Given the description of an element on the screen output the (x, y) to click on. 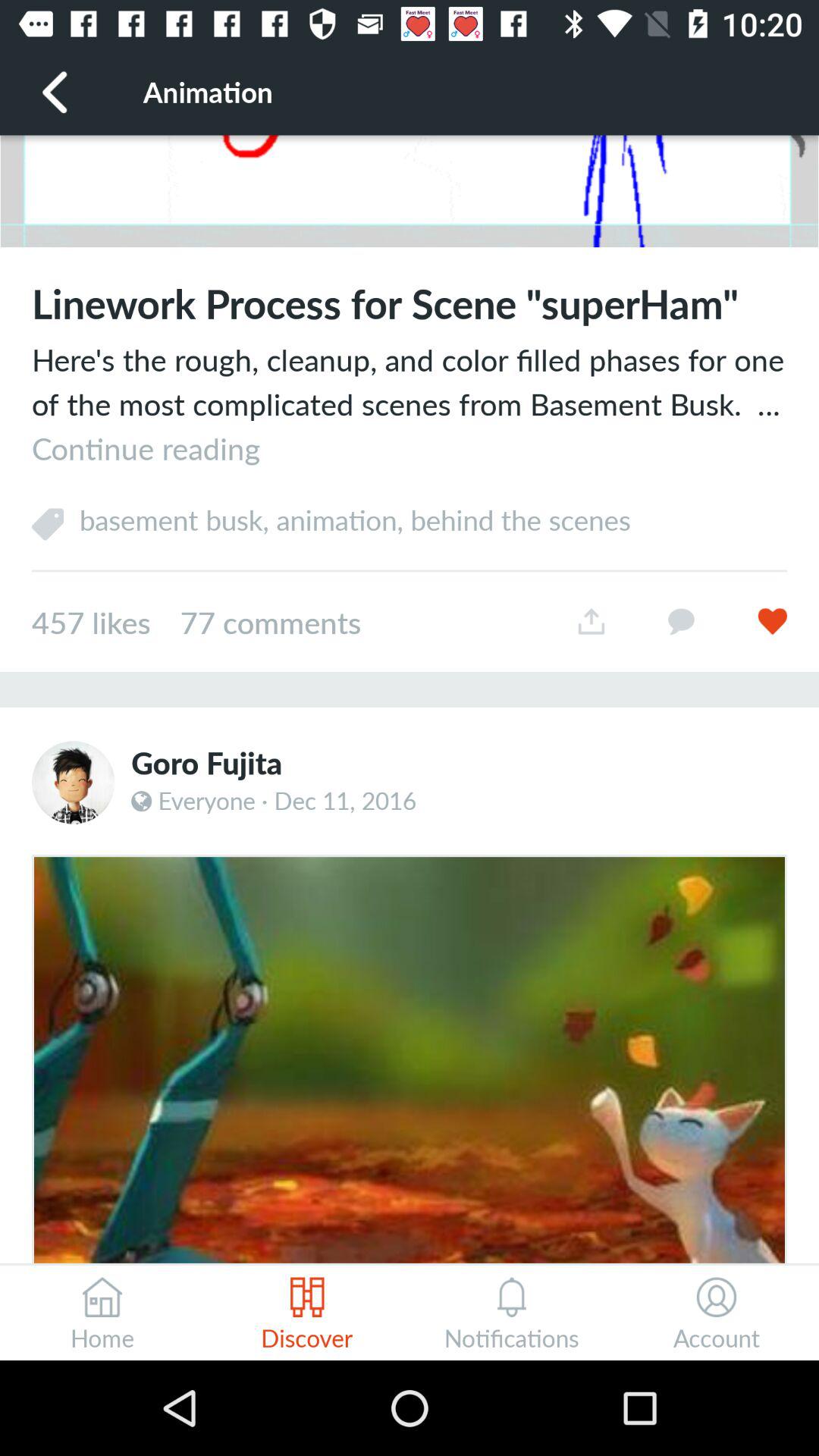
scroll until the 457 likes 77 (288, 621)
